Given the description of an element on the screen output the (x, y) to click on. 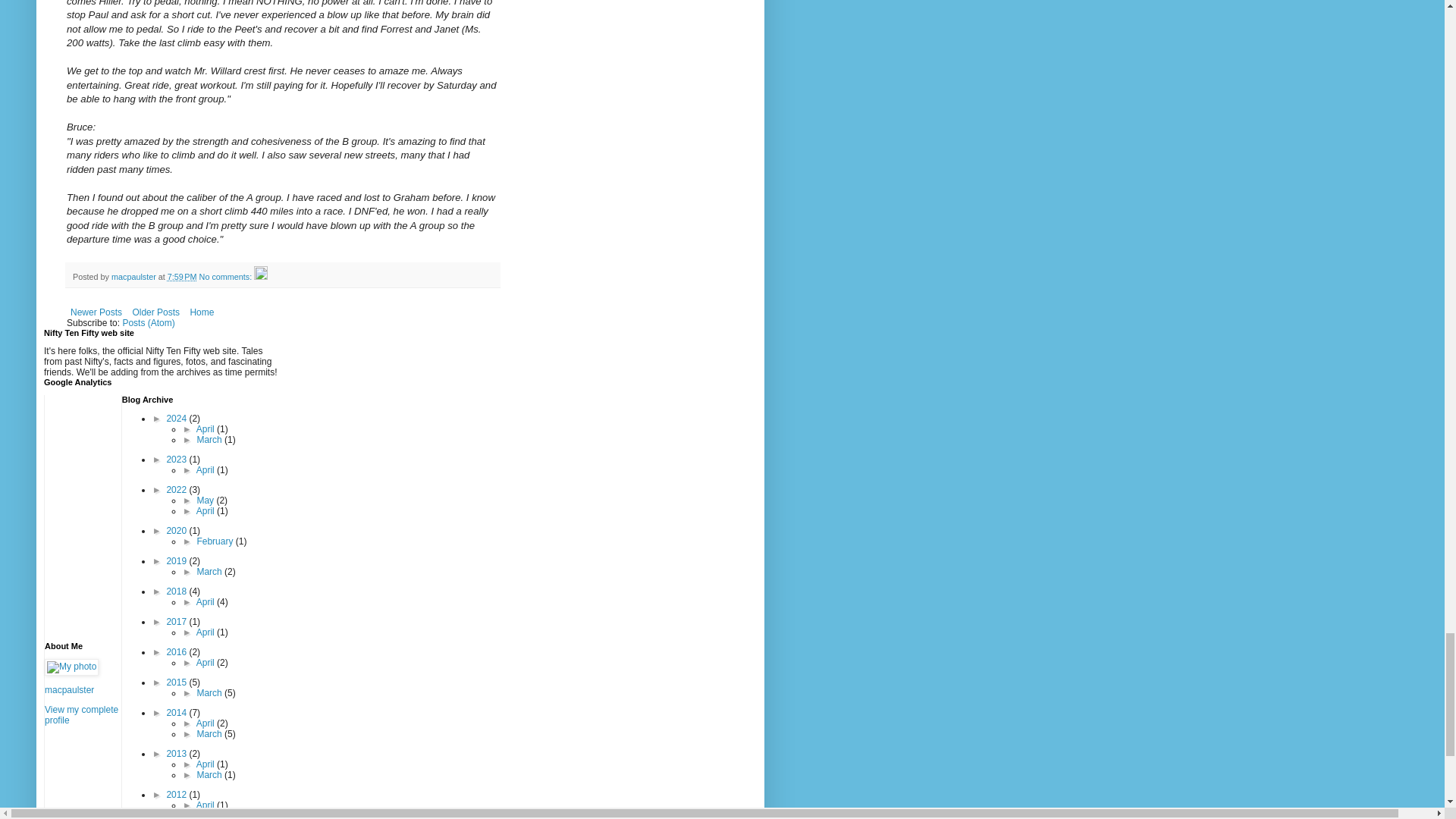
March (210, 439)
May (205, 500)
permanent link (181, 276)
April (206, 470)
March (210, 571)
April (206, 429)
Older Posts (155, 312)
Newer Posts (95, 312)
Older Posts (155, 312)
Edit Post (260, 276)
author profile (135, 276)
macpaulster (135, 276)
2020 (177, 530)
Home (201, 312)
